Given the description of an element on the screen output the (x, y) to click on. 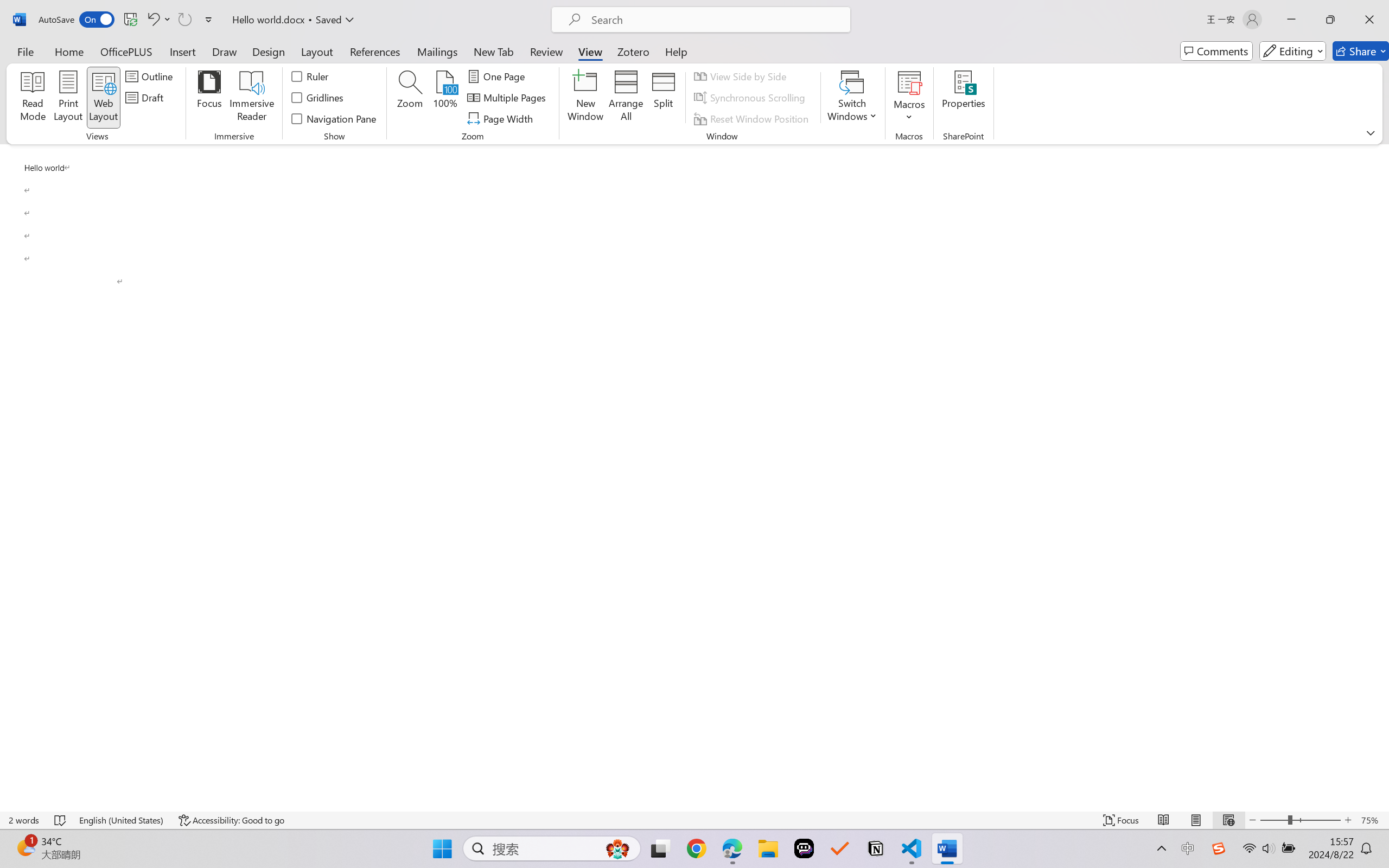
AutoSave (76, 19)
AutomationID: BadgeAnchorLargeTicker (24, 847)
Ruler (309, 75)
Comments (1216, 50)
References (375, 51)
Share (1360, 51)
Focus (209, 97)
Mailings (437, 51)
File Tab (24, 51)
Customize Quick Access Toolbar (208, 19)
Page Width (501, 118)
Spelling and Grammar Check No Errors (60, 819)
